Given the description of an element on the screen output the (x, y) to click on. 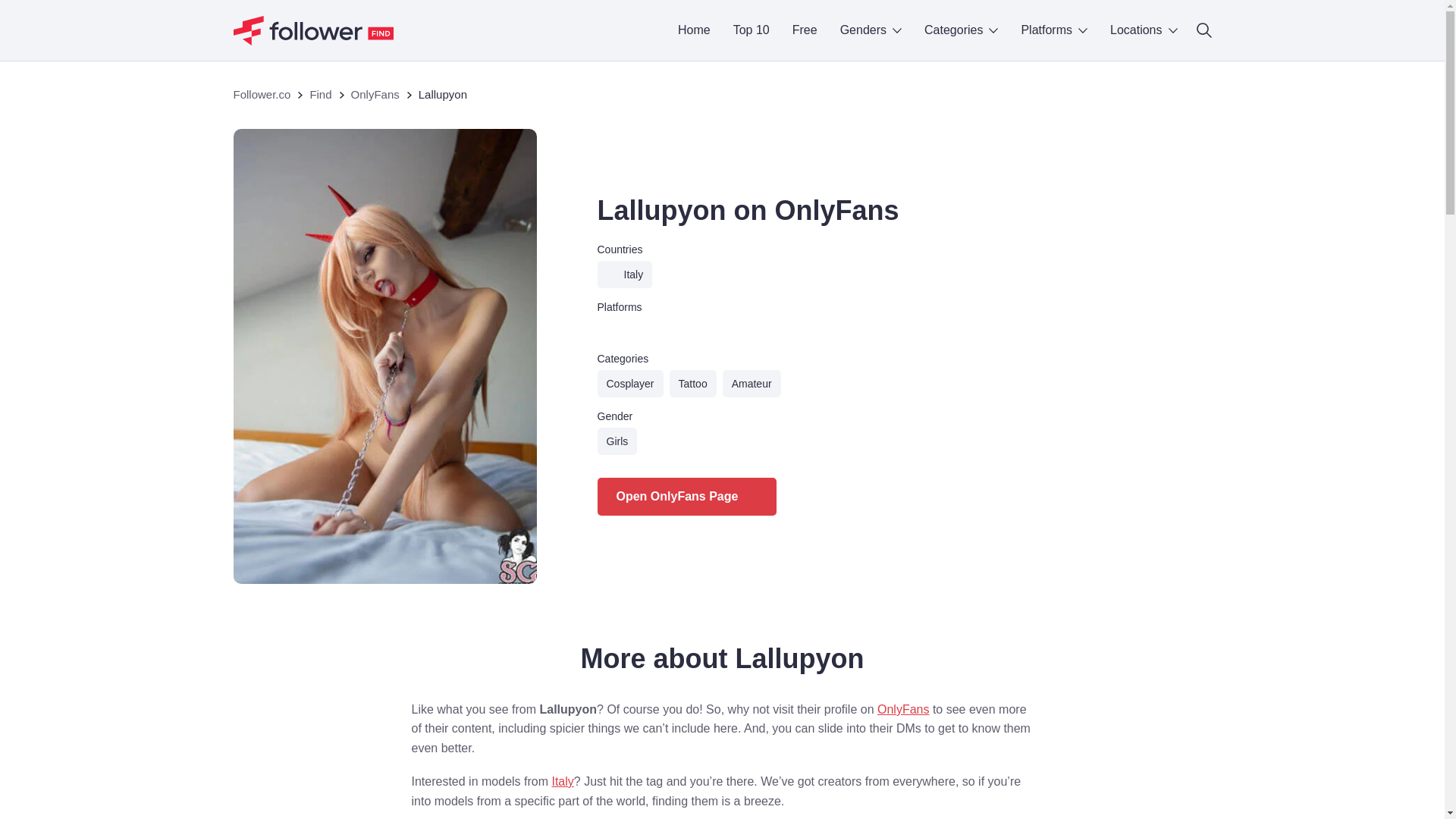
Fan Page Genders (870, 30)
Categories (960, 30)
Browse by Location (1143, 30)
Creator Fan Page Platforms (1053, 30)
OnlyFans (638, 328)
Locations (1143, 30)
Fan Page Categories (960, 30)
Genders (870, 30)
Platforms (1053, 30)
